Given the description of an element on the screen output the (x, y) to click on. 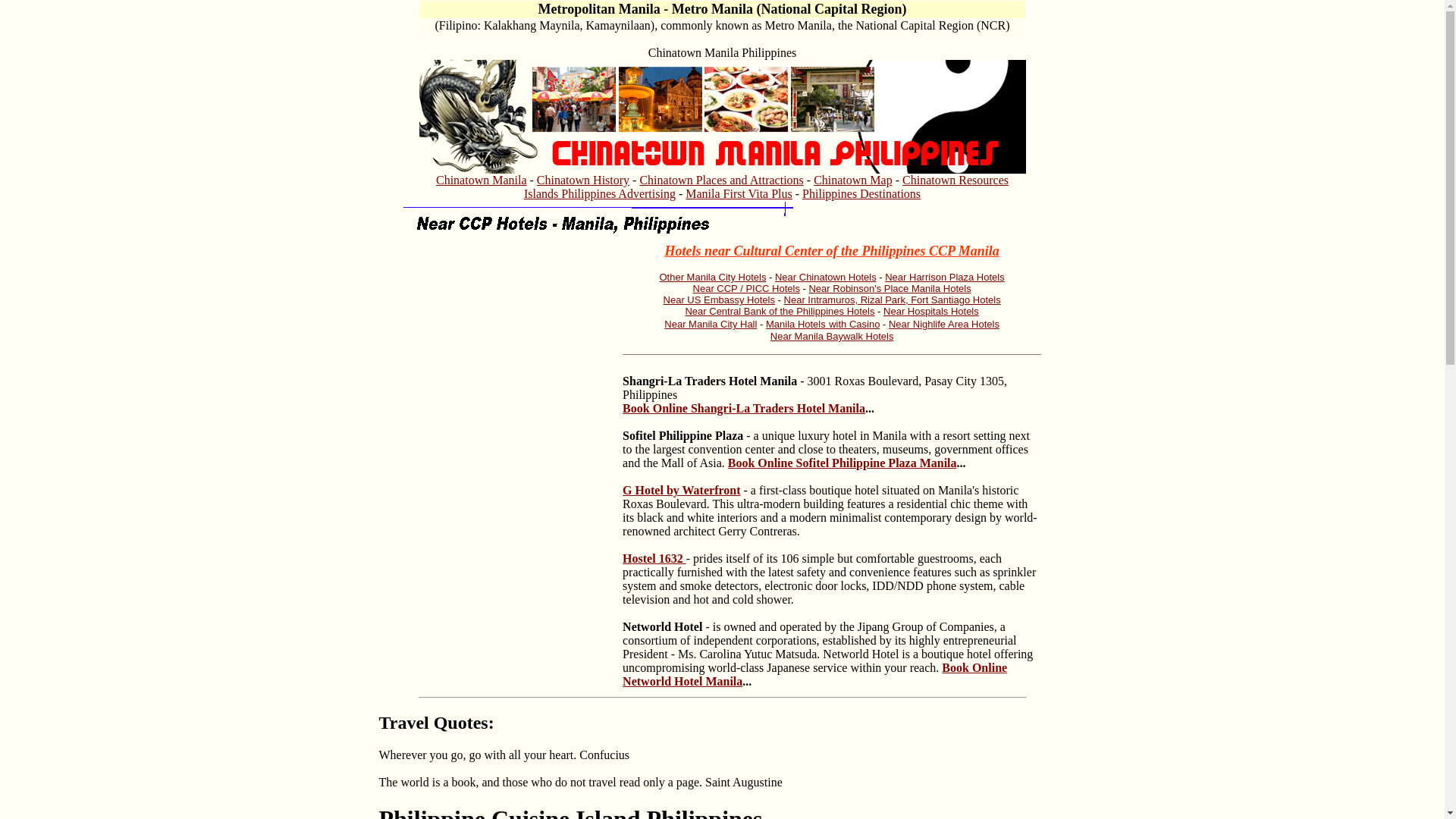
Philippines Destinations (861, 193)
Book Online Sofitel Philippine Plaza Manila (842, 462)
Chinatown History (582, 179)
Chinatown Resources (955, 179)
Book Online Networld Hotel Manila (815, 673)
Chinatown Map (852, 179)
Near Nighlife Area Hotels (943, 324)
Chinatown Places and Attractions (721, 179)
G Hotel by Waterfront (681, 490)
Near Intramuros, Rizal Park, Fort Santiago Hotels (892, 299)
Islands Philippines Advertising (599, 193)
Book Online Shangri-La Traders Hotel Manila (743, 408)
Near Chinatown Hotels (825, 276)
Near Robinson's Place Manila Hotels (889, 288)
Other Manila City Hotels (713, 276)
